Given the description of an element on the screen output the (x, y) to click on. 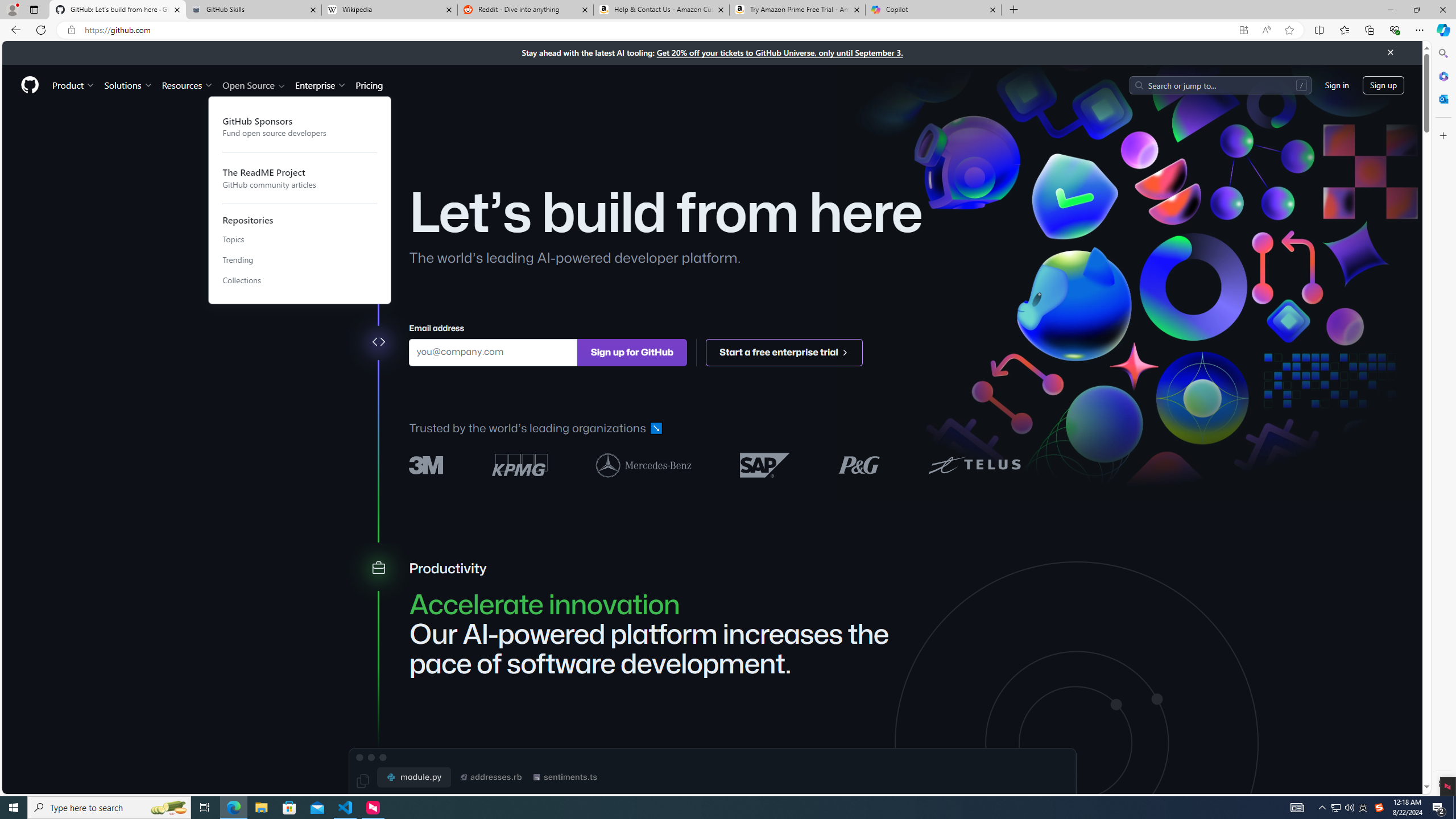
Pricing (368, 84)
Mercedes-Benz logo (643, 464)
GitHub Skills (253, 9)
Reddit - Dive into anything (525, 9)
Help & Contact Us - Amazon Customer Service (660, 9)
Solutions (128, 84)
Topics (299, 239)
Start a free enterprise trial  (784, 352)
Try Amazon Prime Free Trial - Amazon Customer Service (797, 9)
